Given the description of an element on the screen output the (x, y) to click on. 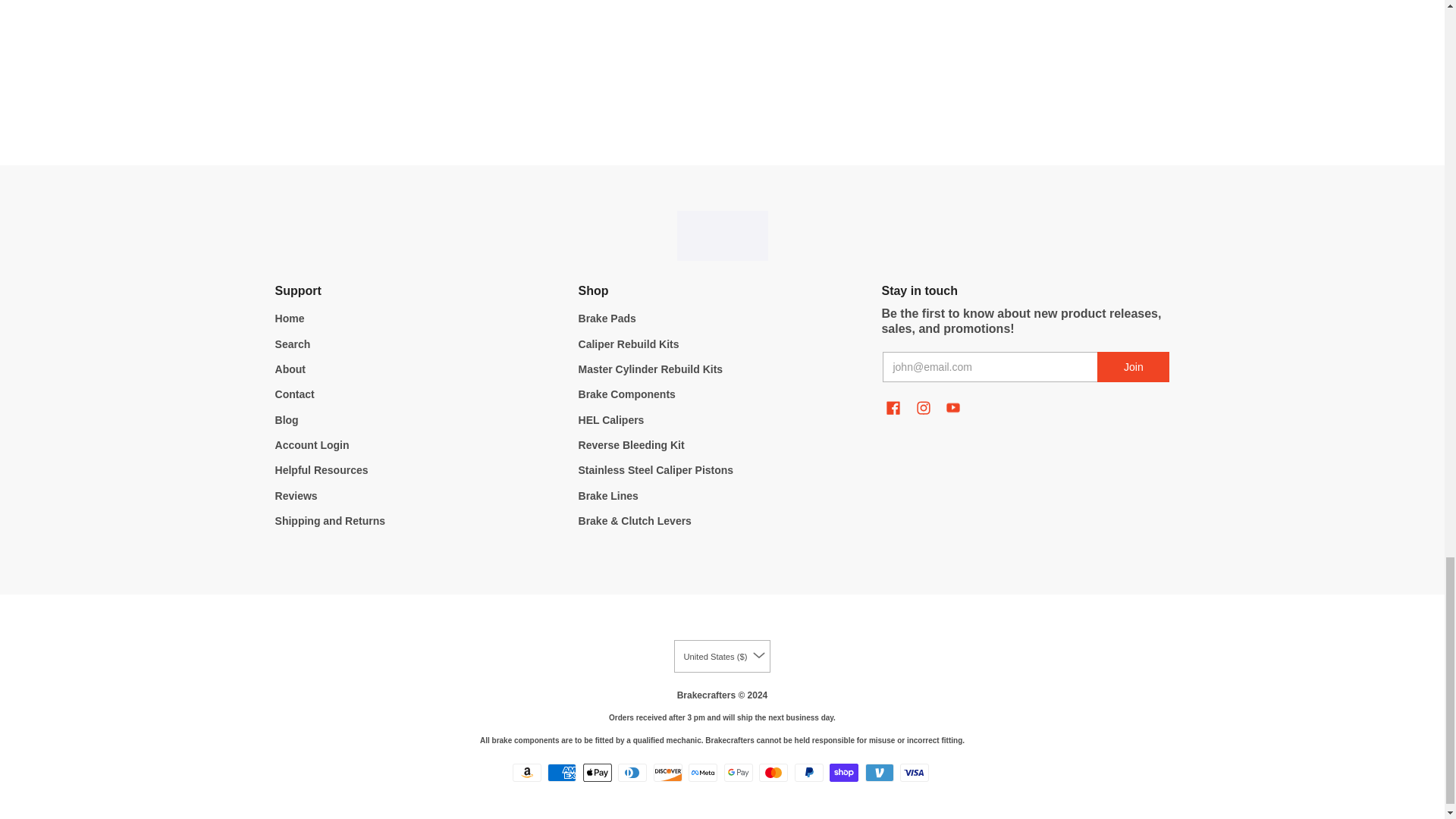
Apple Pay (597, 772)
American Express (561, 772)
Meta Pay (702, 772)
Mastercard (772, 772)
Amazon (526, 772)
Shop Pay (844, 772)
Google Pay (737, 772)
PayPal (809, 772)
Diners Club (631, 772)
Venmo (878, 772)
Discover (667, 772)
